Given the description of an element on the screen output the (x, y) to click on. 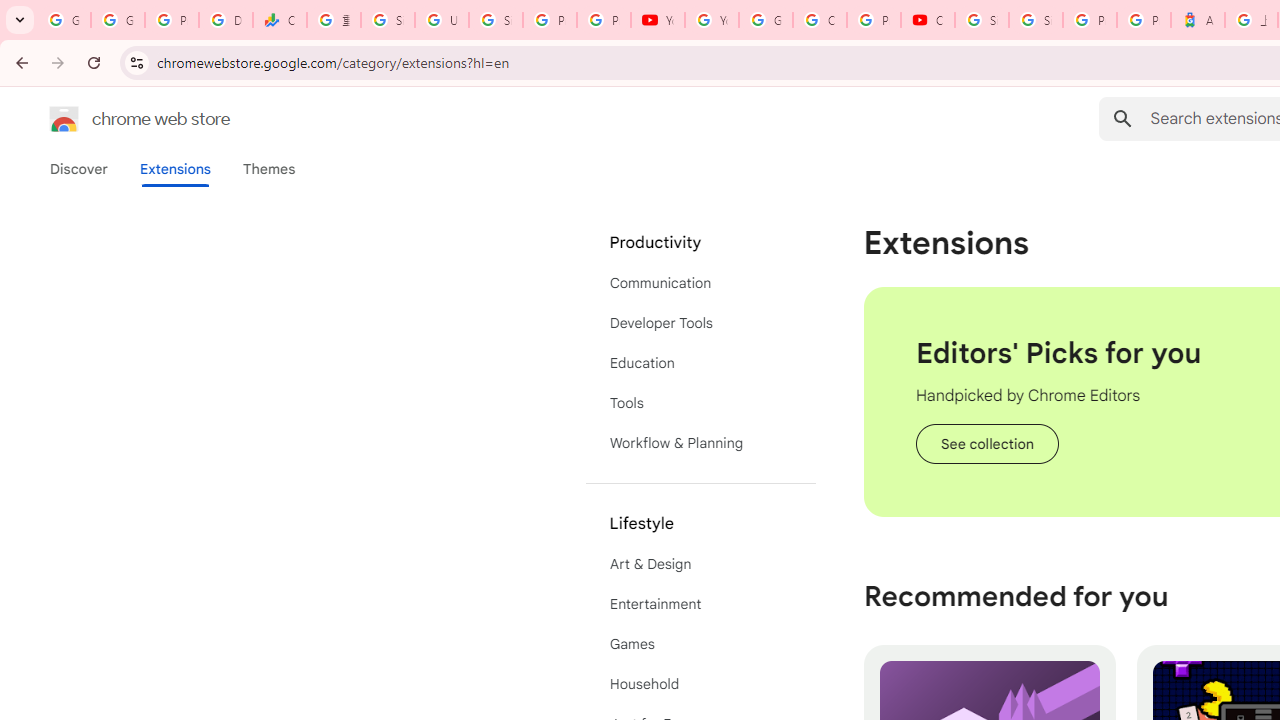
Household (700, 683)
Developer Tools (700, 322)
Google Account Help (765, 20)
YouTube (711, 20)
Games (700, 643)
Privacy Checkup (604, 20)
Workflow & Planning (700, 442)
Create your Google Account (819, 20)
